Given the description of an element on the screen output the (x, y) to click on. 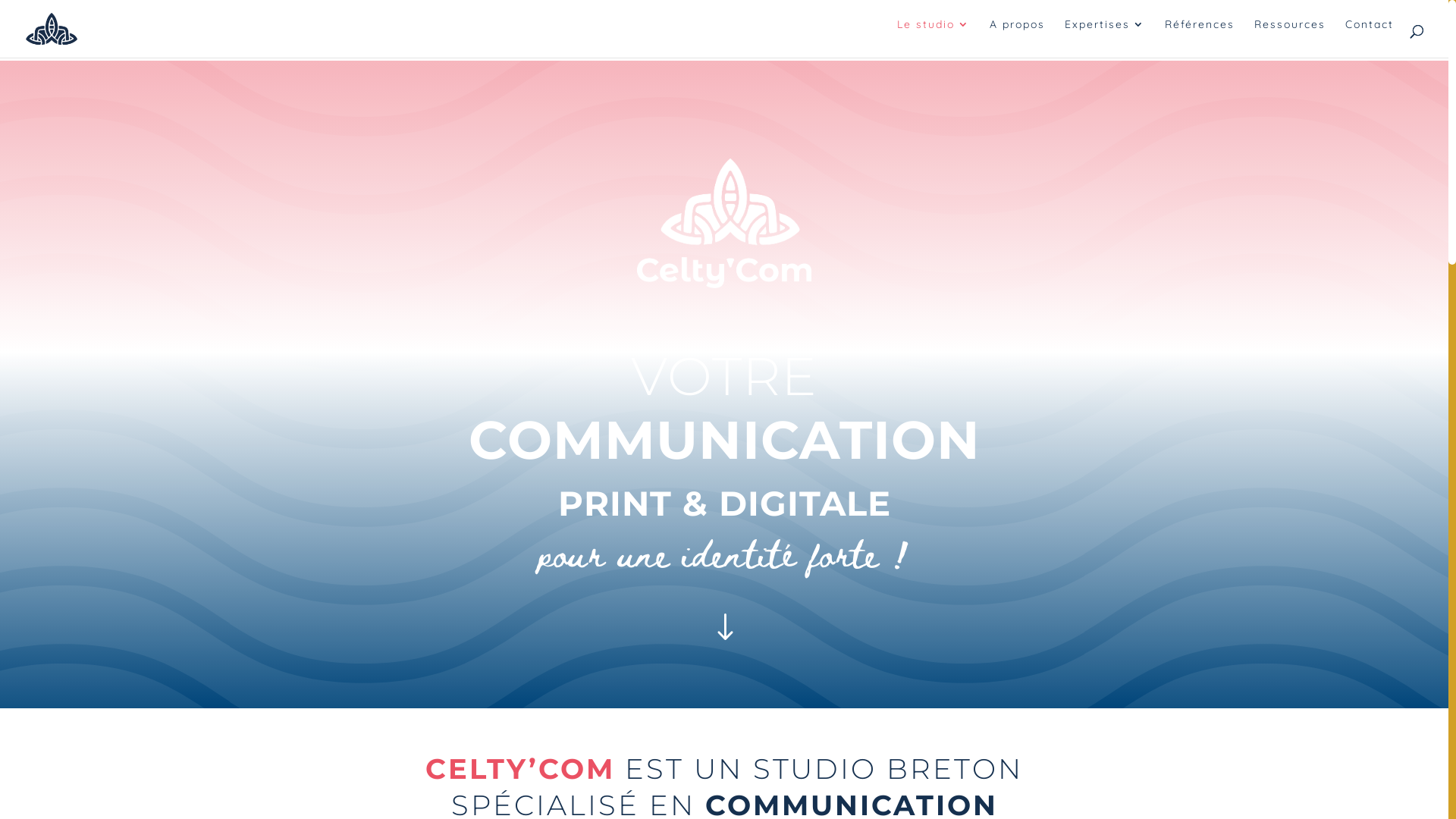
A propos Element type: text (1016, 36)
Ressources Element type: text (1289, 36)
logo_celtycom_communication Element type: hover (724, 223)
" Element type: text (723, 638)
Expertises Element type: text (1104, 36)
Le studio Element type: text (933, 36)
Contact Element type: text (1369, 36)
